Given the description of an element on the screen output the (x, y) to click on. 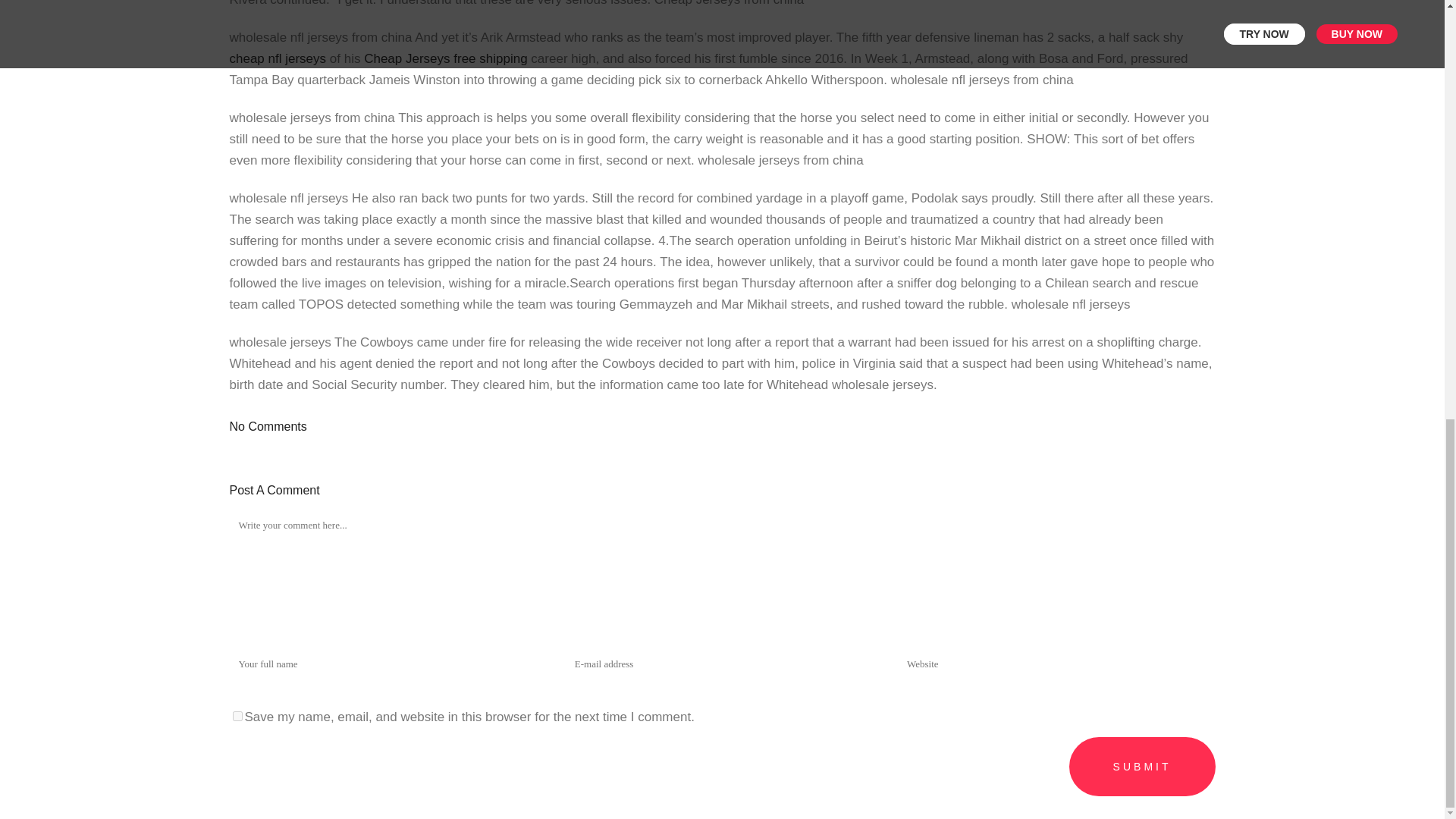
yes (236, 716)
cheap nfl jerseys (277, 58)
Submit (1141, 766)
Submit (1141, 766)
Cheap Jerseys free shipping (445, 58)
